Given the description of an element on the screen output the (x, y) to click on. 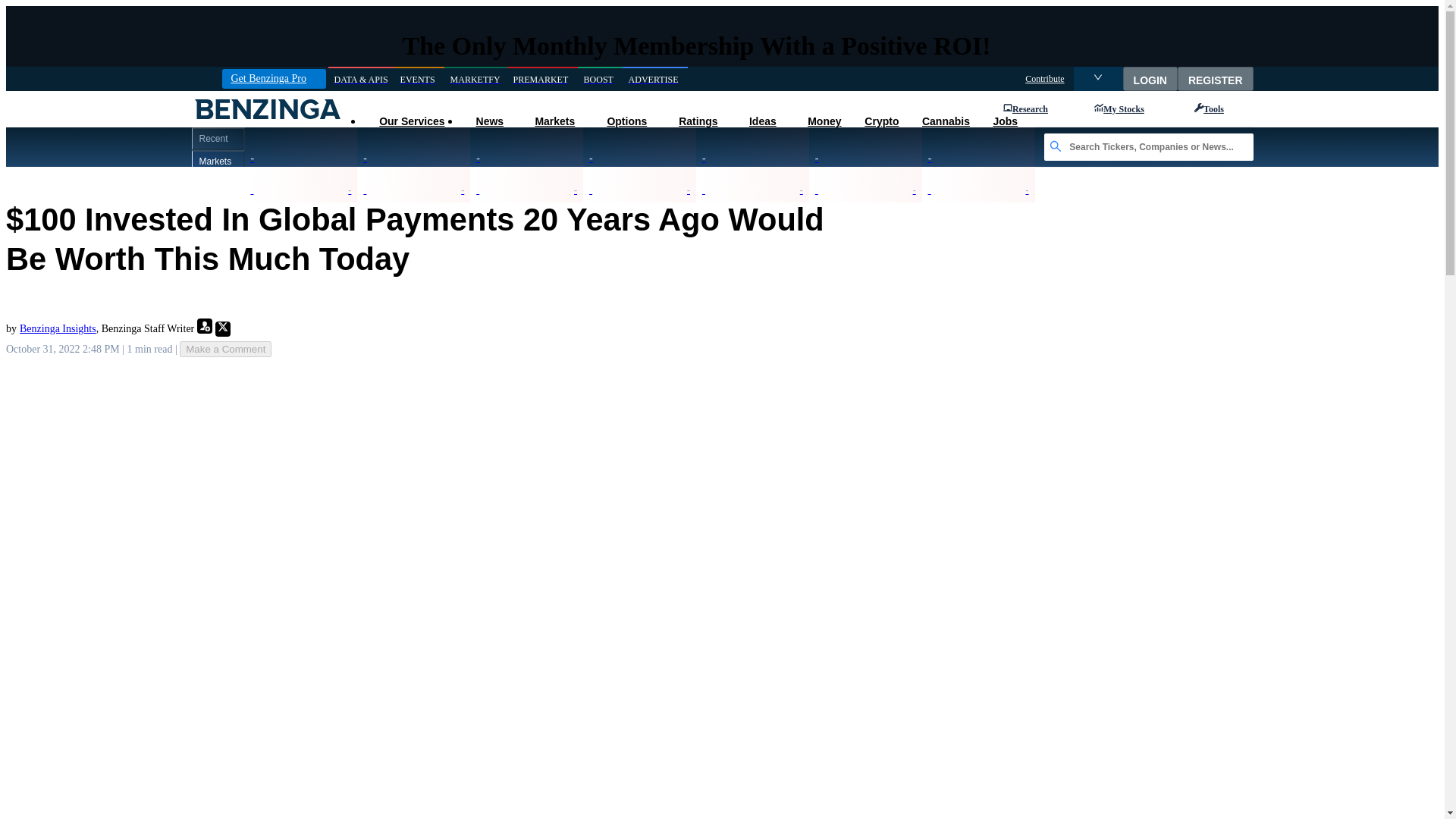
ADVERTISE (655, 78)
BOOST (600, 78)
MARKETFY (475, 78)
Our Services (411, 121)
LOGIN (1149, 78)
News (489, 121)
PREMARKET (542, 78)
Get Benzinga Pro (272, 78)
EVENTS (419, 78)
Contribute (1044, 78)
Our Services (411, 121)
News (489, 121)
REGISTER (1215, 78)
